Given the description of an element on the screen output the (x, y) to click on. 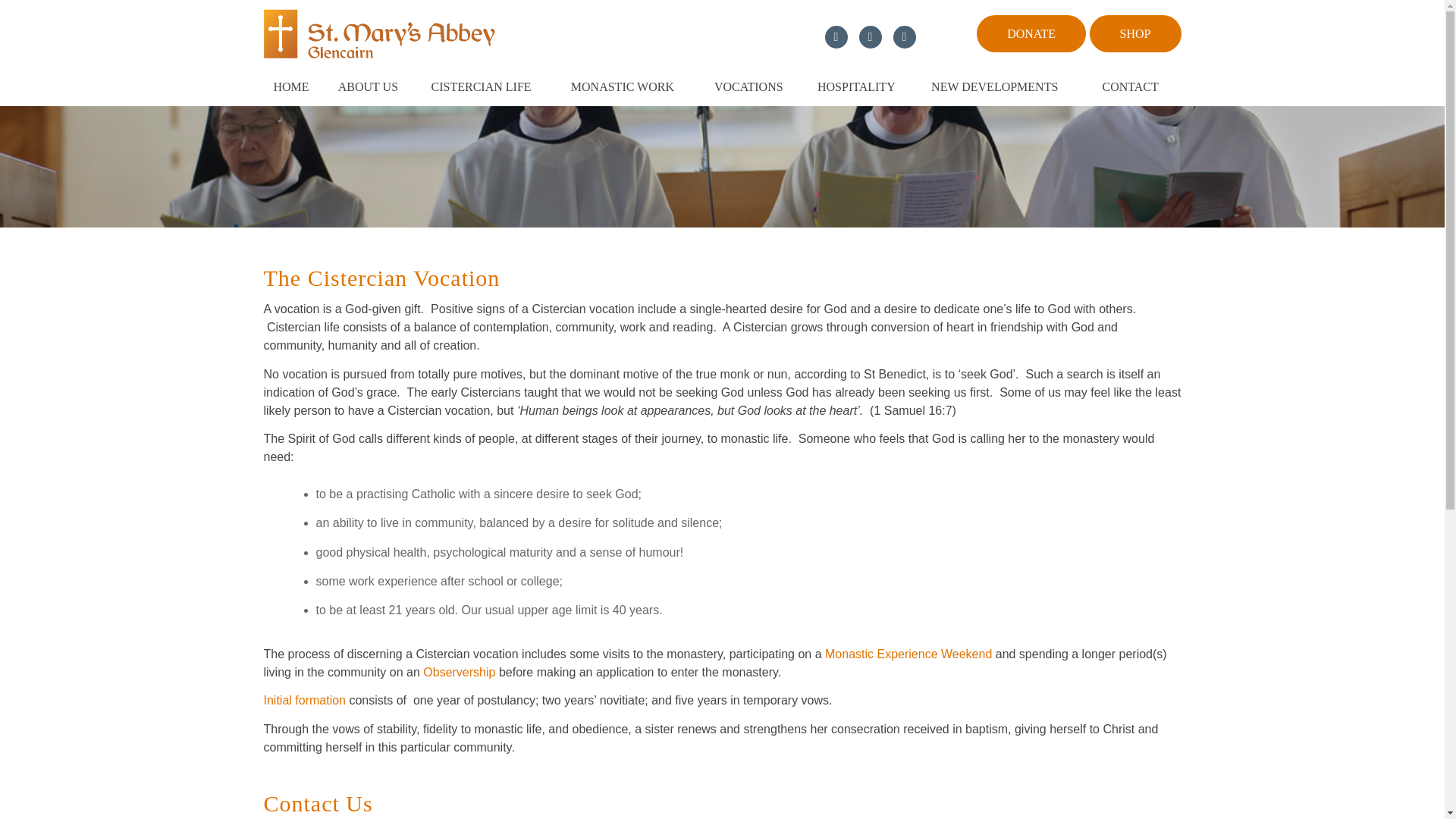
SHOP (1134, 33)
MONASTIC WORK (632, 86)
Facebook (836, 36)
CISTERCIAN LIFE (491, 86)
VOCATIONS (756, 86)
ABOUT US (375, 86)
HOME (296, 86)
Youtube (869, 36)
Instagram (904, 36)
DONATE (1031, 33)
